Given the description of an element on the screen output the (x, y) to click on. 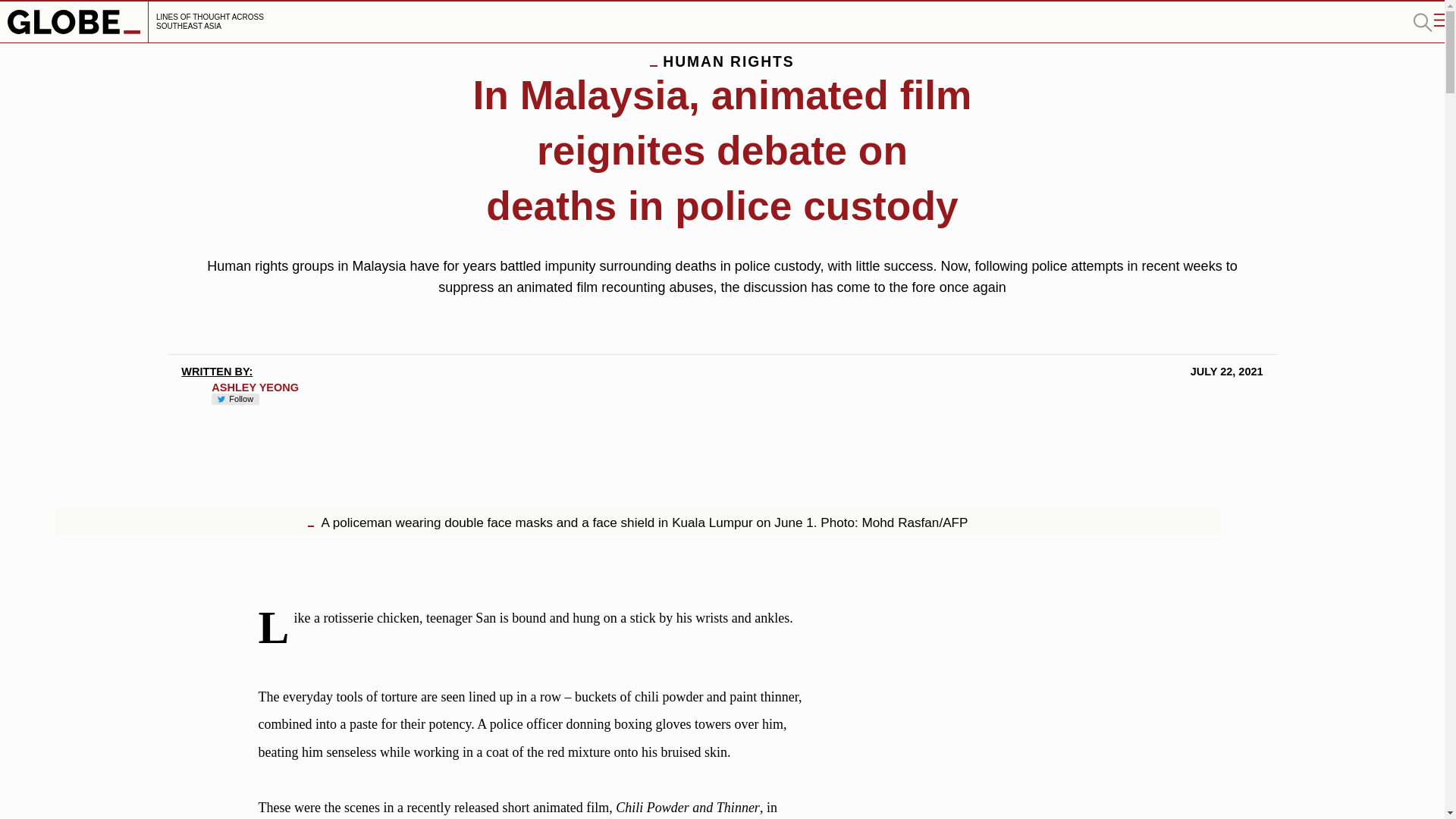
ASHLEY YEONG (254, 387)
Follow (235, 398)
LINES OF THOUGHT ACROSS SOUTHEAST ASIA (138, 21)
